Given the description of an element on the screen output the (x, y) to click on. 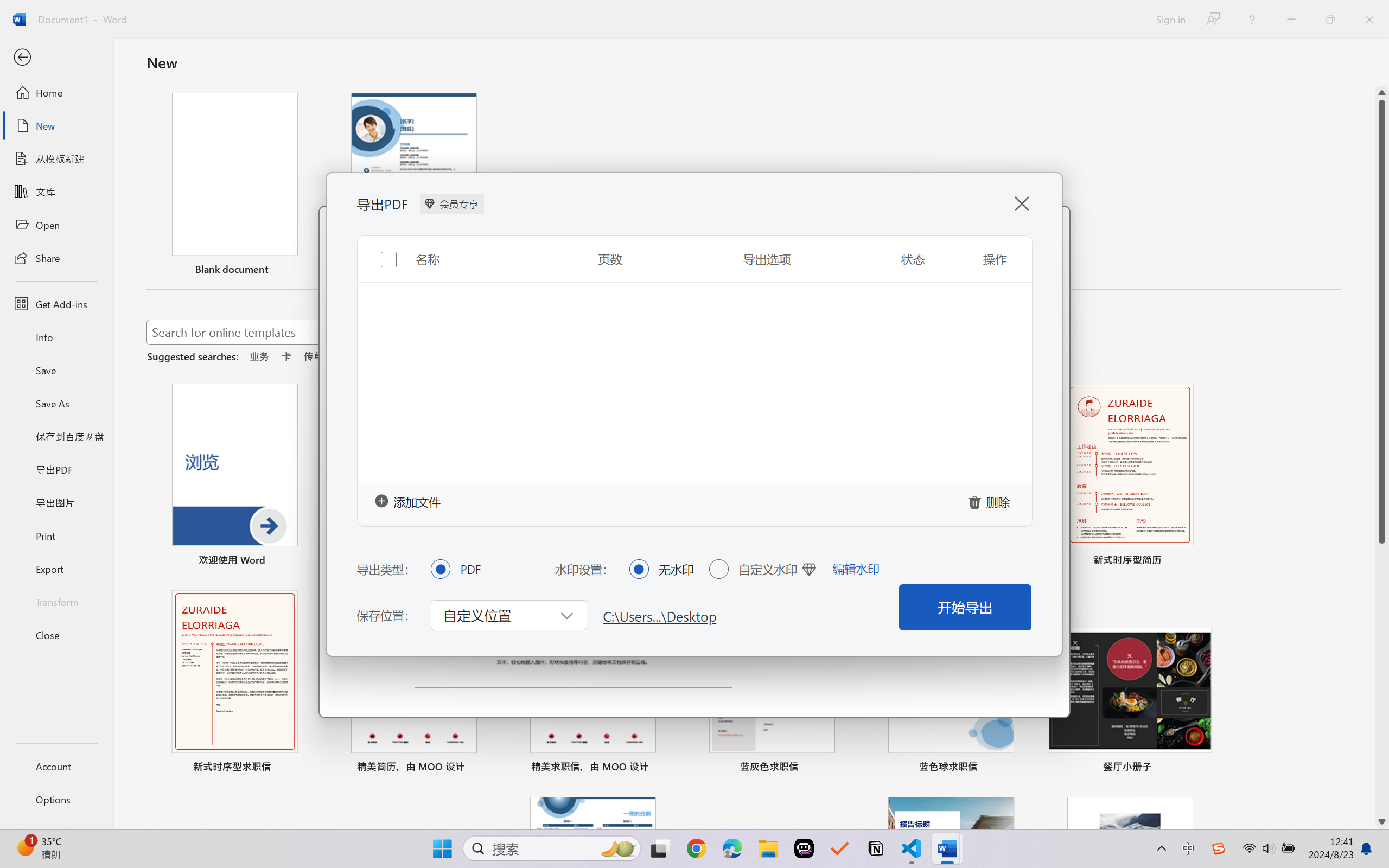
Transform (56, 601)
Pin to list (1200, 767)
Microsoft Edge (731, 848)
Save As (56, 403)
Toggle selection for all items (380, 250)
